Given the description of an element on the screen output the (x, y) to click on. 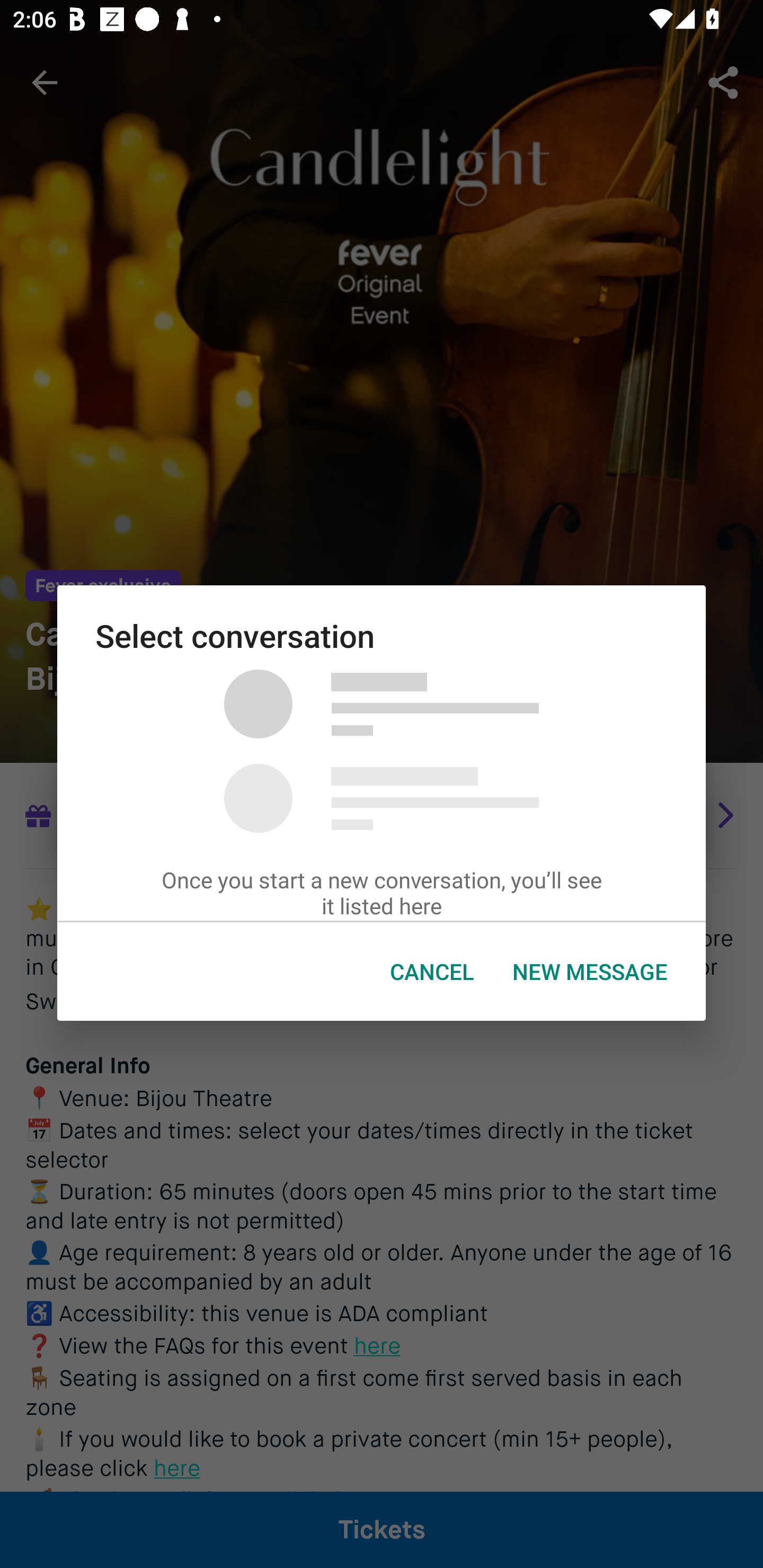
CANCEL (431, 971)
NEW MESSAGE (589, 971)
